Given the description of an element on the screen output the (x, y) to click on. 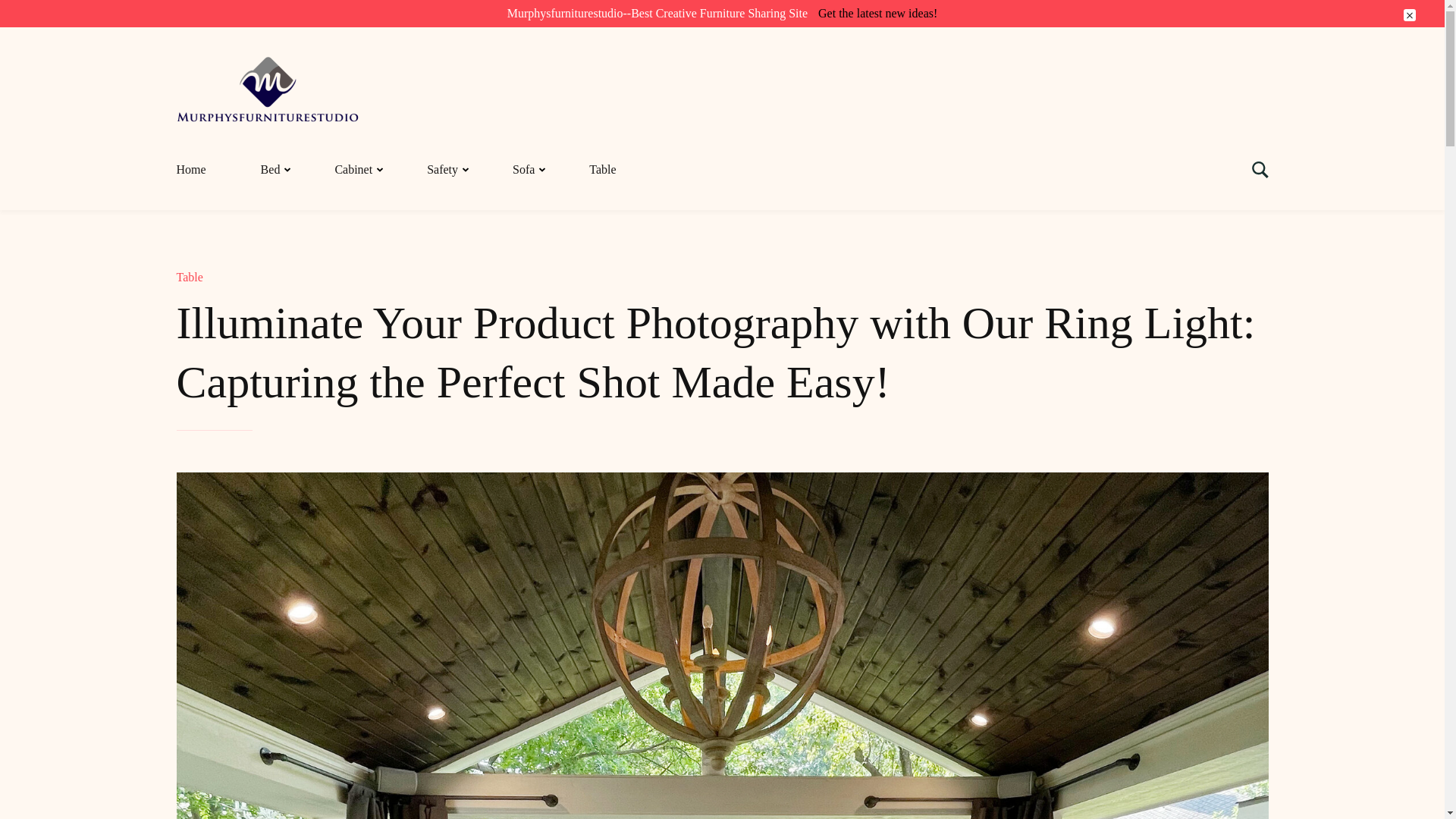
Table (602, 169)
Safety (441, 169)
Get the latest new ideas! (877, 13)
Table (189, 277)
Murphysfurniturestudio (270, 65)
Home (204, 169)
Cabinet (352, 169)
Sofa (523, 169)
Bed (269, 169)
